Given the description of an element on the screen output the (x, y) to click on. 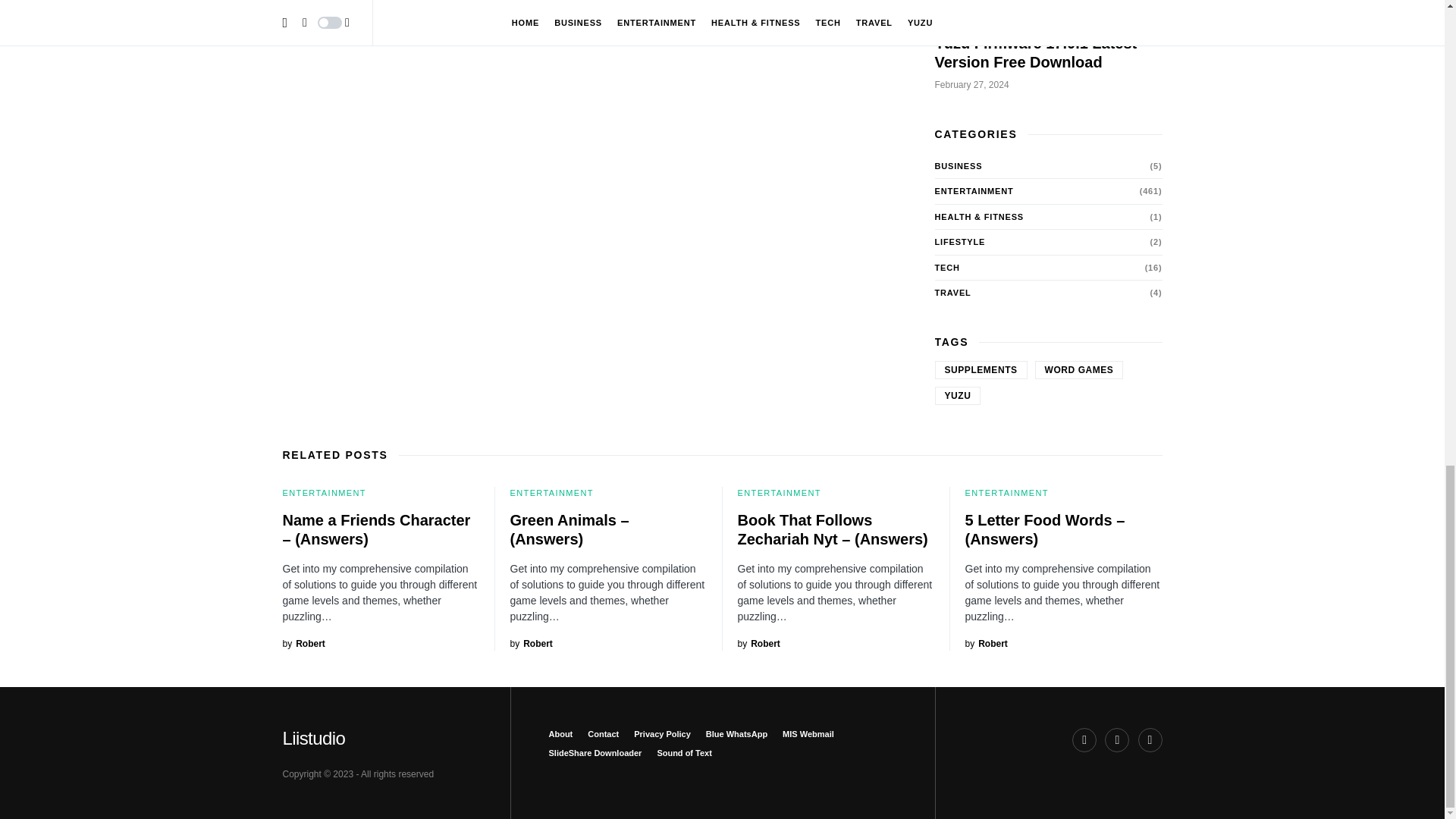
View all posts by Robert (530, 643)
View all posts by Robert (303, 643)
View all posts by Robert (985, 643)
View all posts by Robert (757, 643)
